Given the description of an element on the screen output the (x, y) to click on. 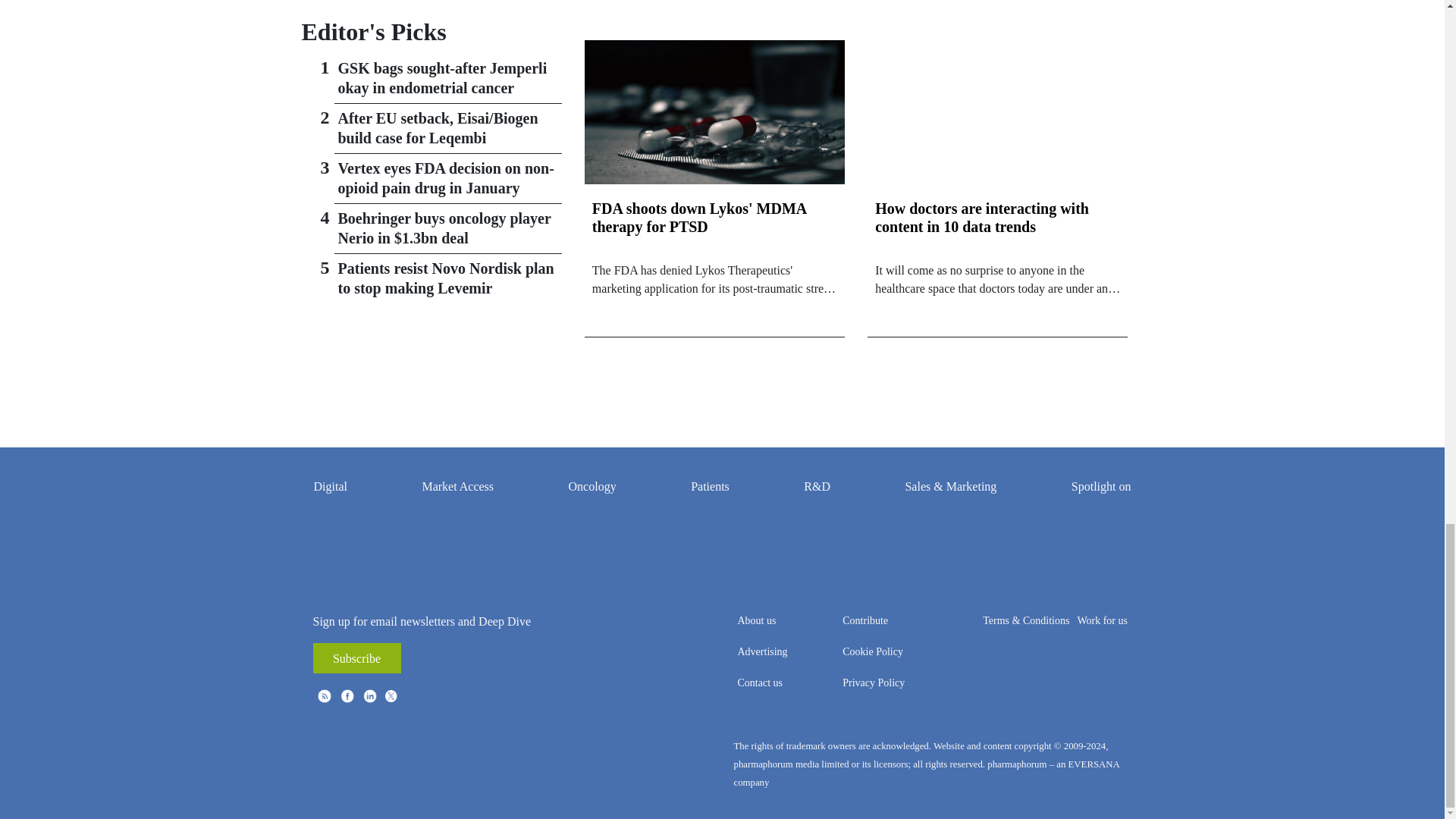
 rss (324, 695)
X (392, 695)
facebook (347, 695)
Pharmaphorum (430, 763)
linkedin (369, 695)
